Given the description of an element on the screen output the (x, y) to click on. 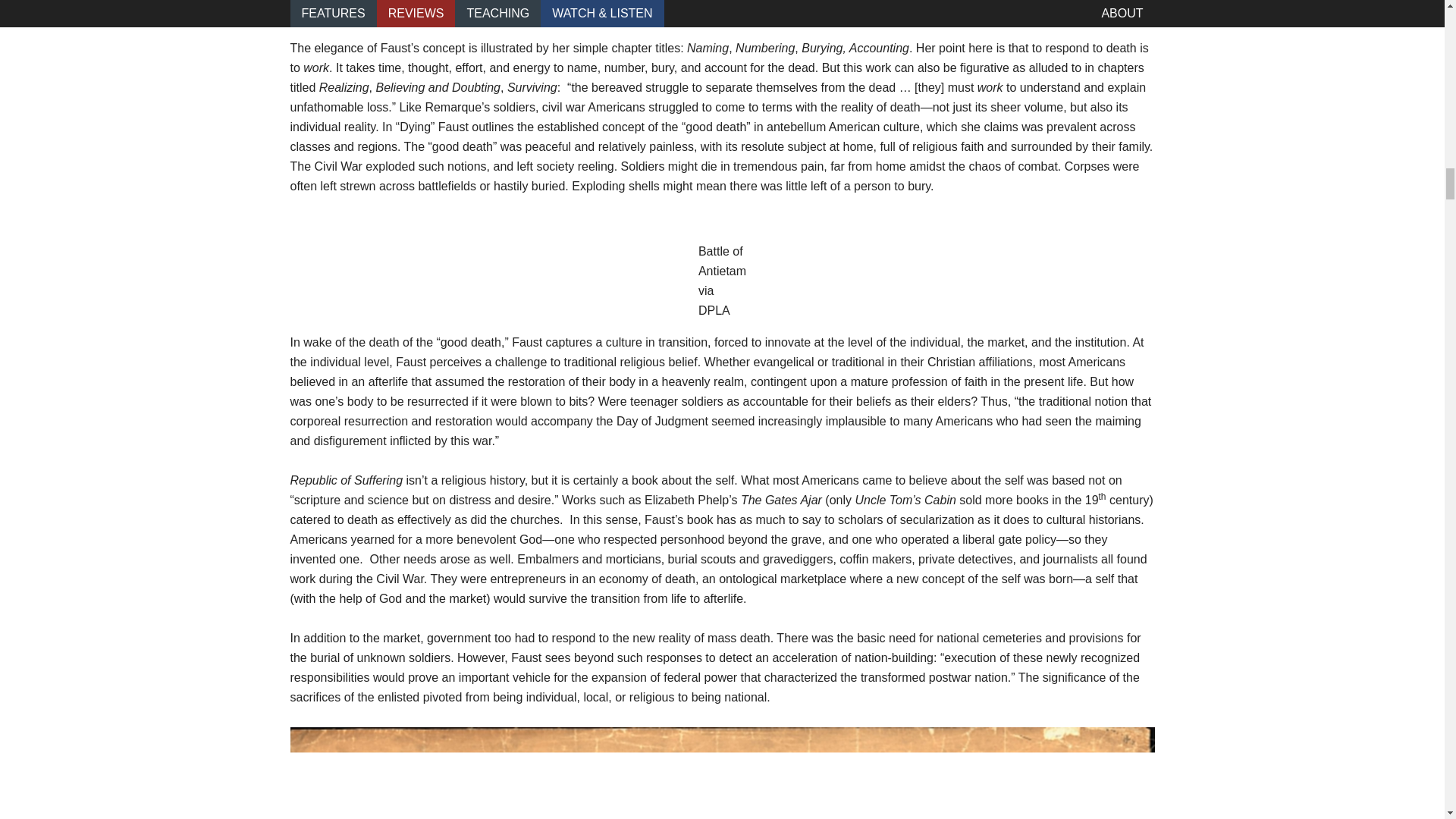
DPLA (714, 309)
Library of Congress (721, 11)
